Given the description of an element on the screen output the (x, y) to click on. 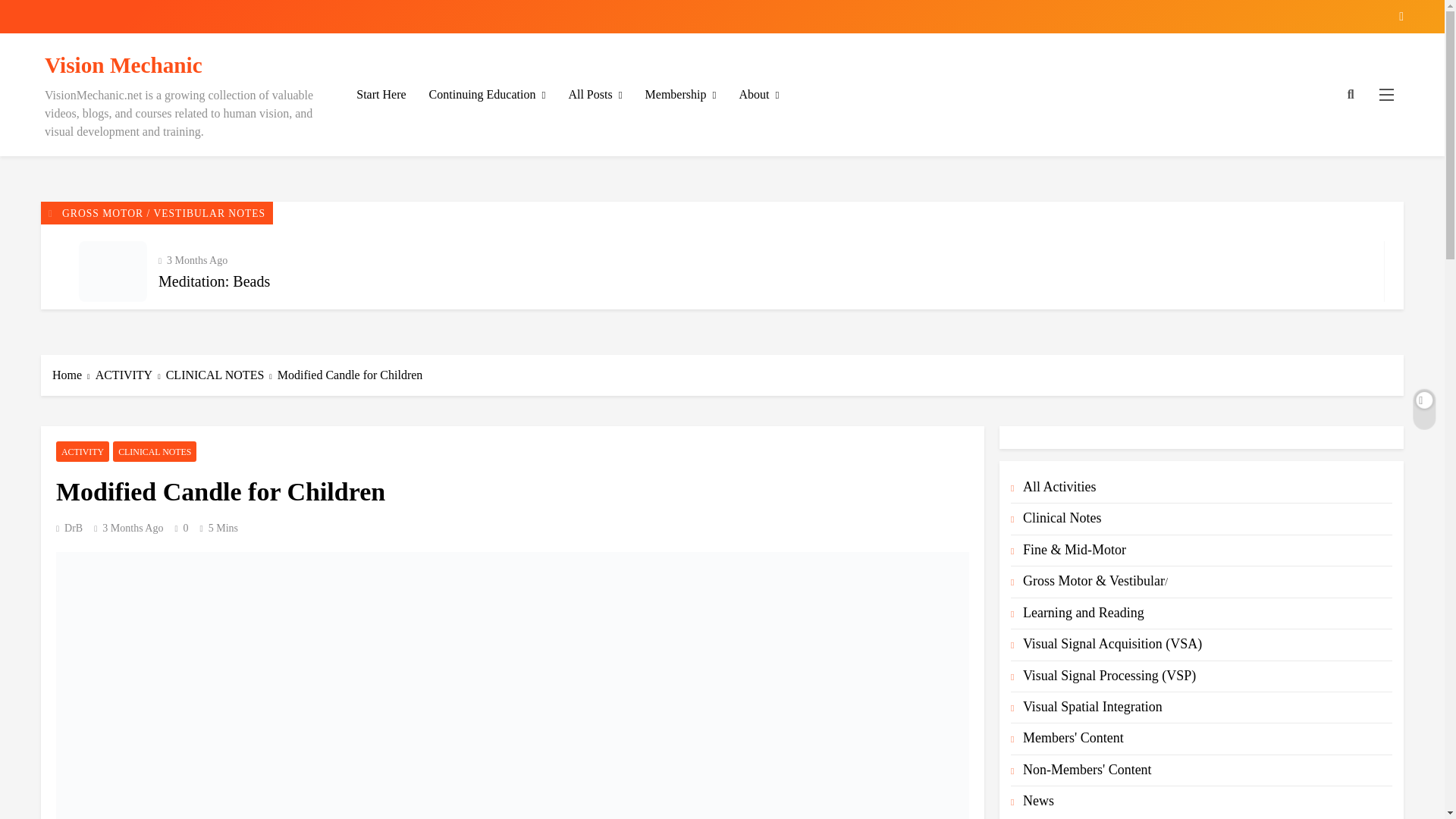
Membership (680, 95)
Vision Mechanic (123, 64)
Meditation: Beads (213, 280)
Continuing Education (487, 95)
Start Here (380, 94)
All Posts (594, 95)
Meditation: Beads (112, 271)
